Given the description of an element on the screen output the (x, y) to click on. 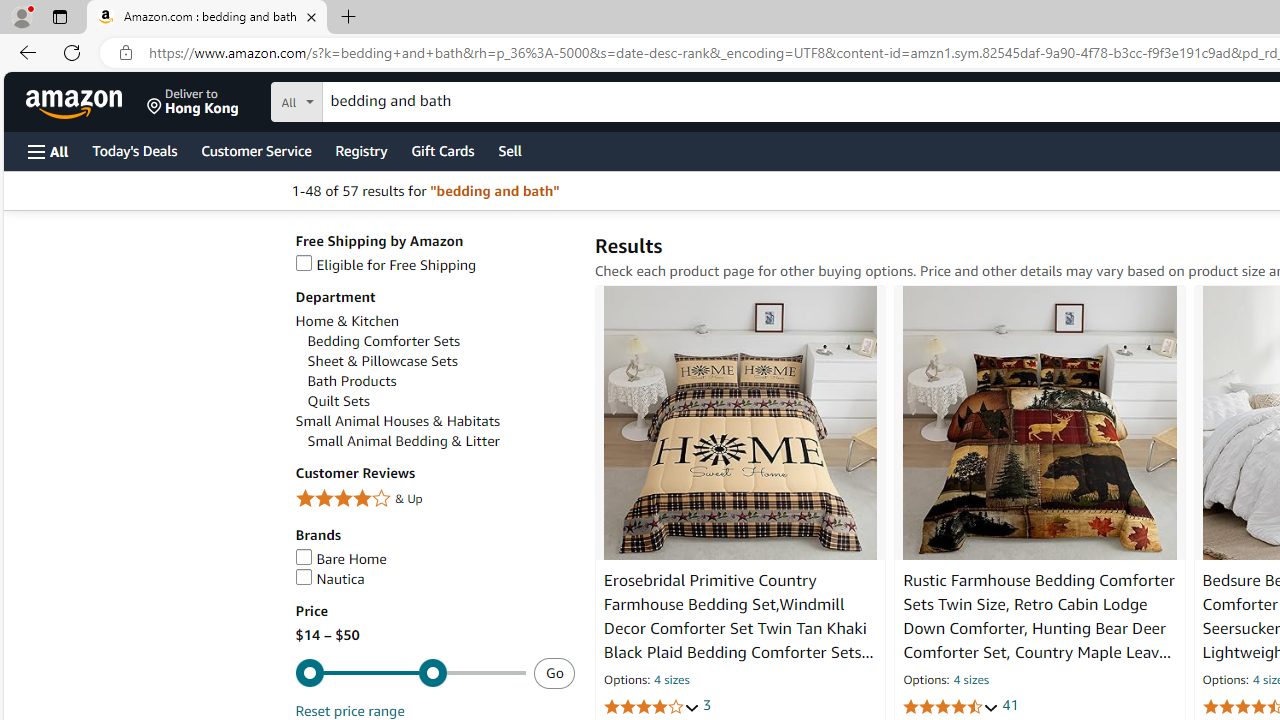
Bath Products (351, 381)
Bedding Comforter Sets (440, 340)
Bare Home (434, 559)
4 sizes (970, 681)
Maximum (410, 673)
4 Stars & Up (434, 498)
Home & Kitchen (434, 321)
41 (1010, 705)
Open Menu (48, 151)
Small Animal Houses & Habitats (397, 421)
Bedding Comforter Sets (383, 341)
